Given the description of an element on the screen output the (x, y) to click on. 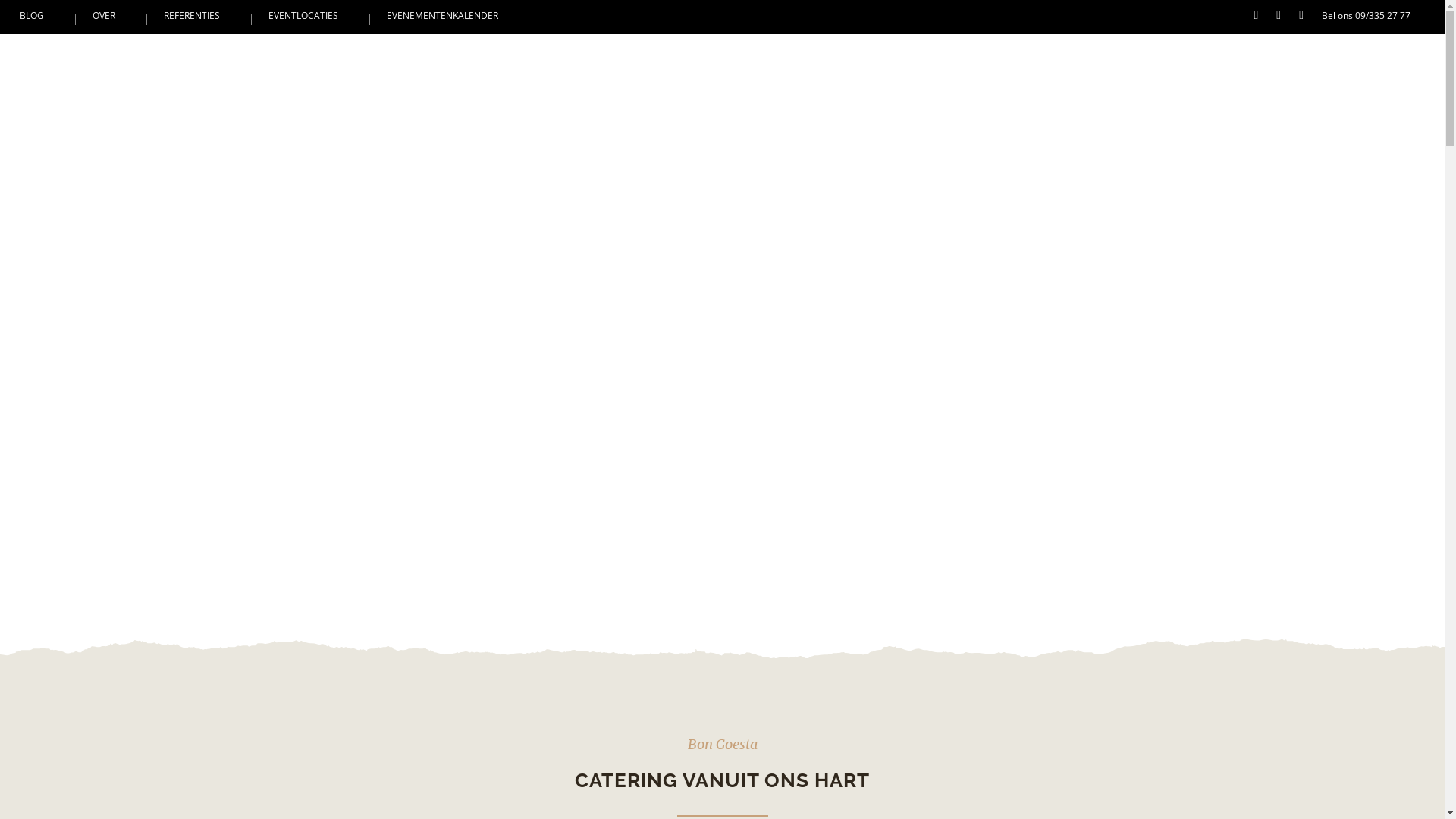
09/335 27 77 Element type: text (1382, 15)
BON GOESTA CATERING Element type: text (861, 60)
EVENEMENTENKALENDER Element type: text (442, 15)
HOME Element type: text (741, 60)
SINT-MAURUS-HOEVE Element type: text (1033, 60)
BLOG Element type: text (31, 15)
OVER Element type: text (103, 15)
EVENTLOCATIES Element type: text (303, 15)
VACATURES Element type: text (1288, 60)
REFERENTIES Element type: text (191, 15)
TASTINGBOXES Element type: text (1176, 60)
CONTACT Element type: text (1382, 60)
